Given the description of an element on the screen output the (x, y) to click on. 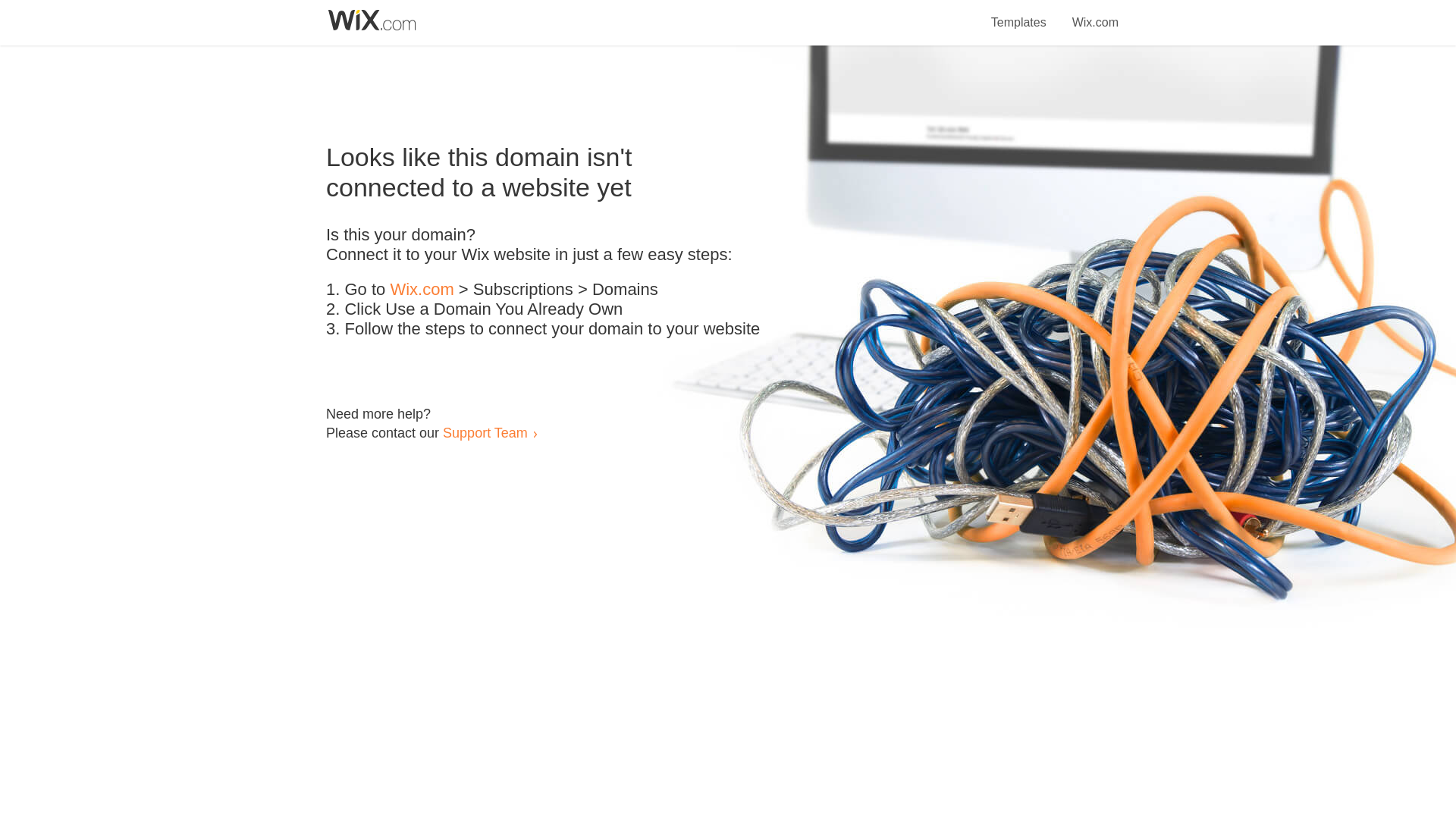
Wix.com (1095, 14)
Support Team (484, 432)
Wix.com (421, 289)
Templates (1018, 14)
